Given the description of an element on the screen output the (x, y) to click on. 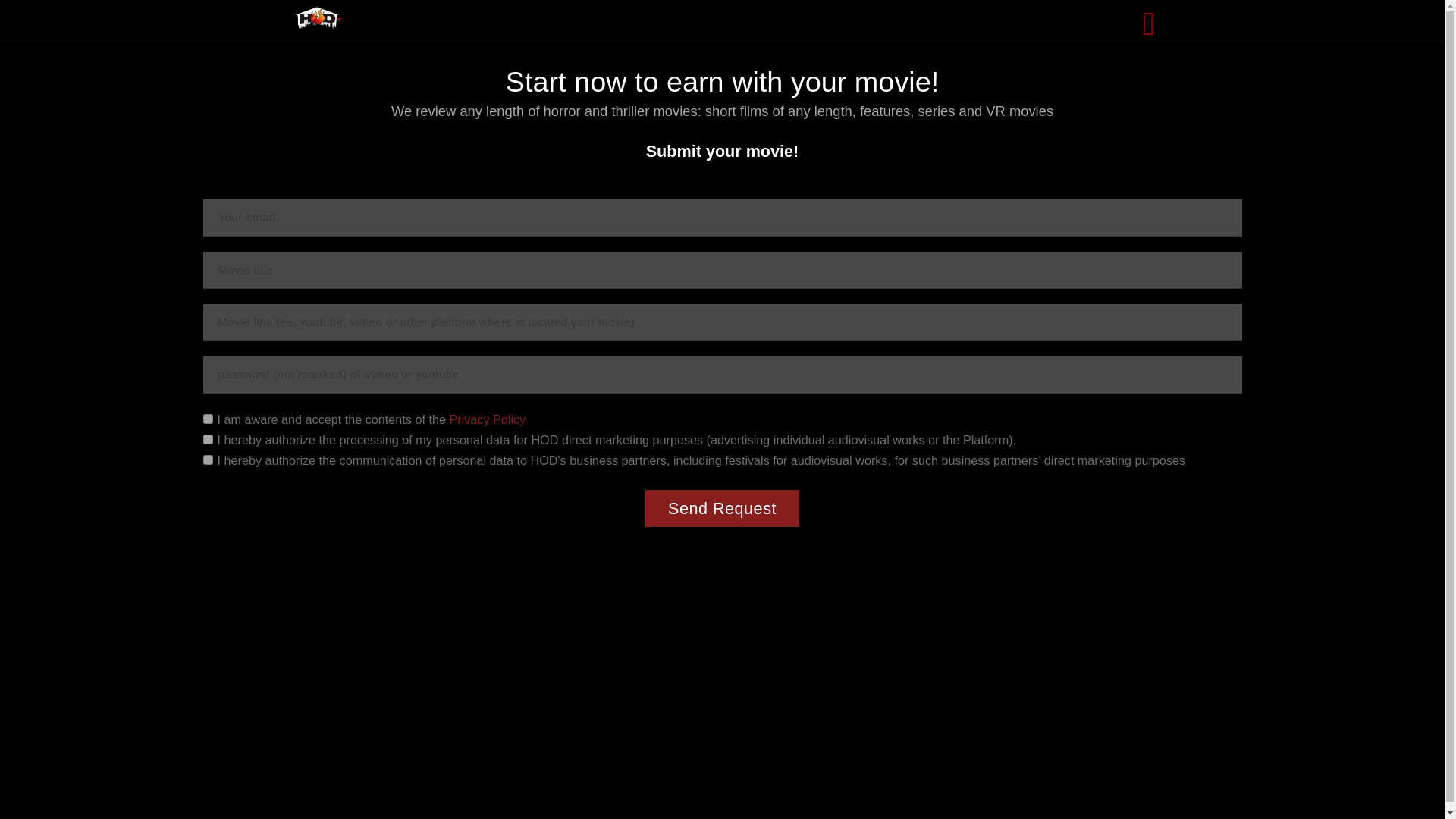
1 (207, 419)
Privacy Policy (486, 418)
1 (207, 460)
1 (207, 439)
Send Request (722, 508)
Send Request (722, 508)
